Given the description of an element on the screen output the (x, y) to click on. 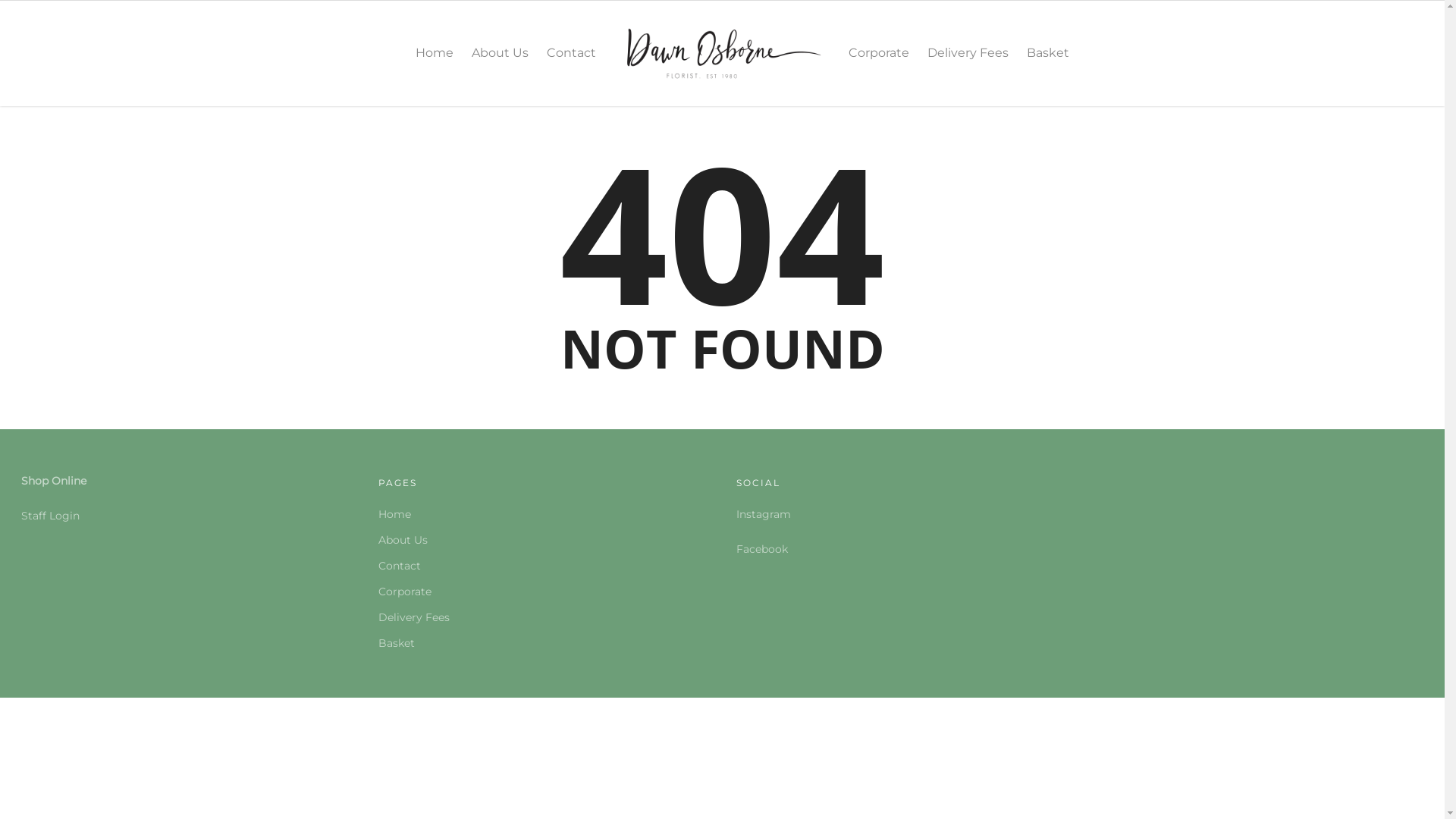
Delivery Fees Element type: text (543, 617)
Corporate Element type: text (878, 63)
Shop Online Element type: text (53, 480)
Delivery Fees Element type: text (967, 63)
Basket Element type: text (1047, 63)
Contact Element type: text (543, 565)
Facebook Element type: text (761, 548)
Staff Login Element type: text (50, 515)
Contact Element type: text (571, 63)
Corporate Element type: text (543, 591)
Instagram Element type: text (763, 513)
Basket Element type: text (543, 642)
About Us Element type: text (499, 63)
Home Element type: text (434, 63)
Home Element type: text (543, 514)
About Us Element type: text (543, 539)
